Given the description of an element on the screen output the (x, y) to click on. 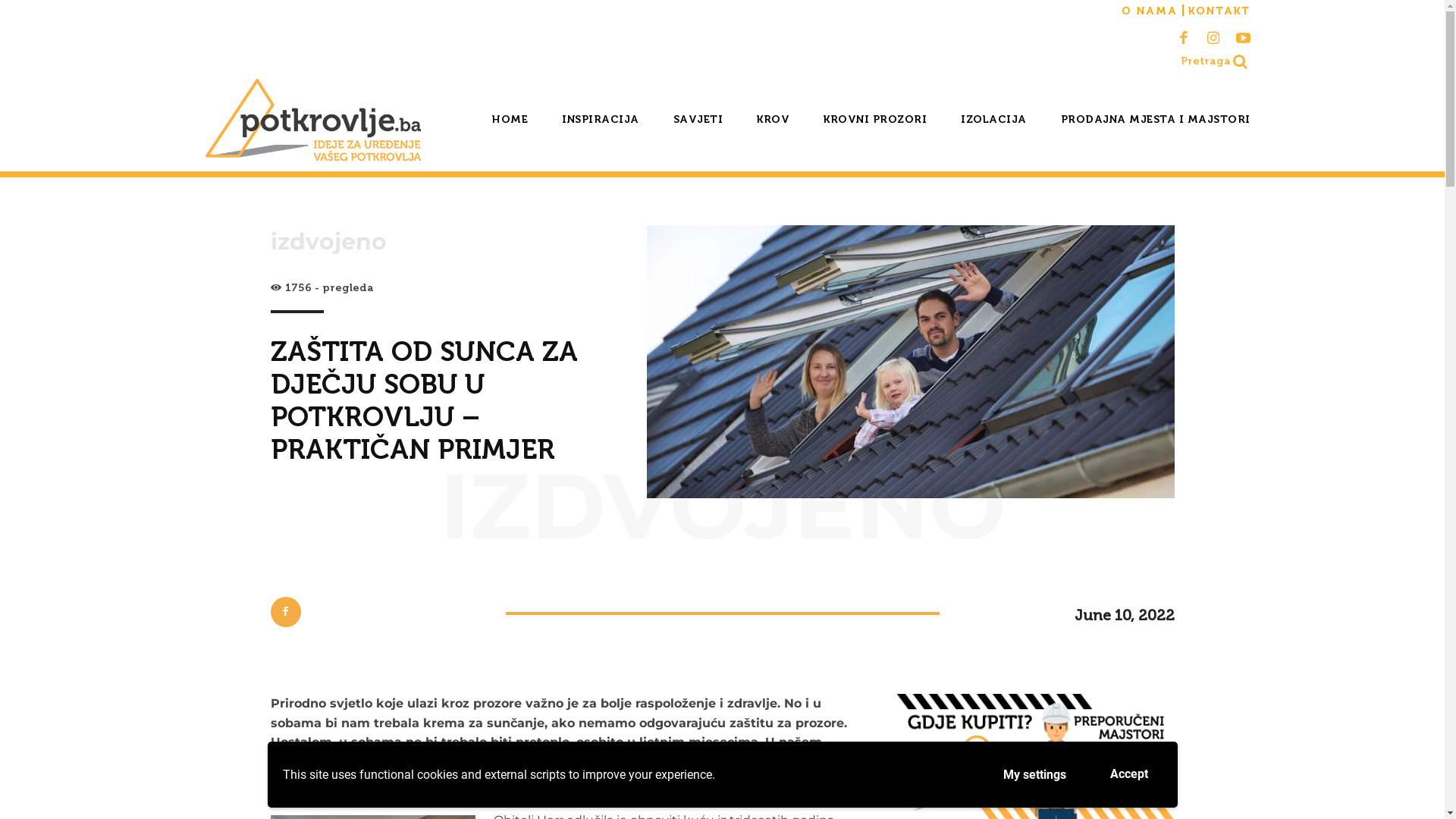
My settings Element type: text (1034, 774)
izdvojeno Element type: text (327, 241)
KROV Element type: text (772, 119)
Instagram Element type: hover (1212, 36)
INSPIRACIJA Element type: text (600, 119)
Pretraga Element type: text (1214, 61)
KONTAKT Element type: text (1218, 10)
Youtube Element type: hover (1243, 36)
HOME Element type: text (509, 119)
Accept Element type: text (1128, 774)
O NAMA Element type: text (1148, 10)
IZOLACIJA Element type: text (993, 119)
SAVJETI Element type: text (698, 119)
Facebook Element type: hover (284, 611)
Facebook Element type: hover (1183, 36)
IZDVOJENO Element type: text (722, 505)
PRODAJNA MJESTA I MAJSTORI Element type: text (1154, 119)
KROVNI PROZORI Element type: text (874, 119)
